Given the description of an element on the screen output the (x, y) to click on. 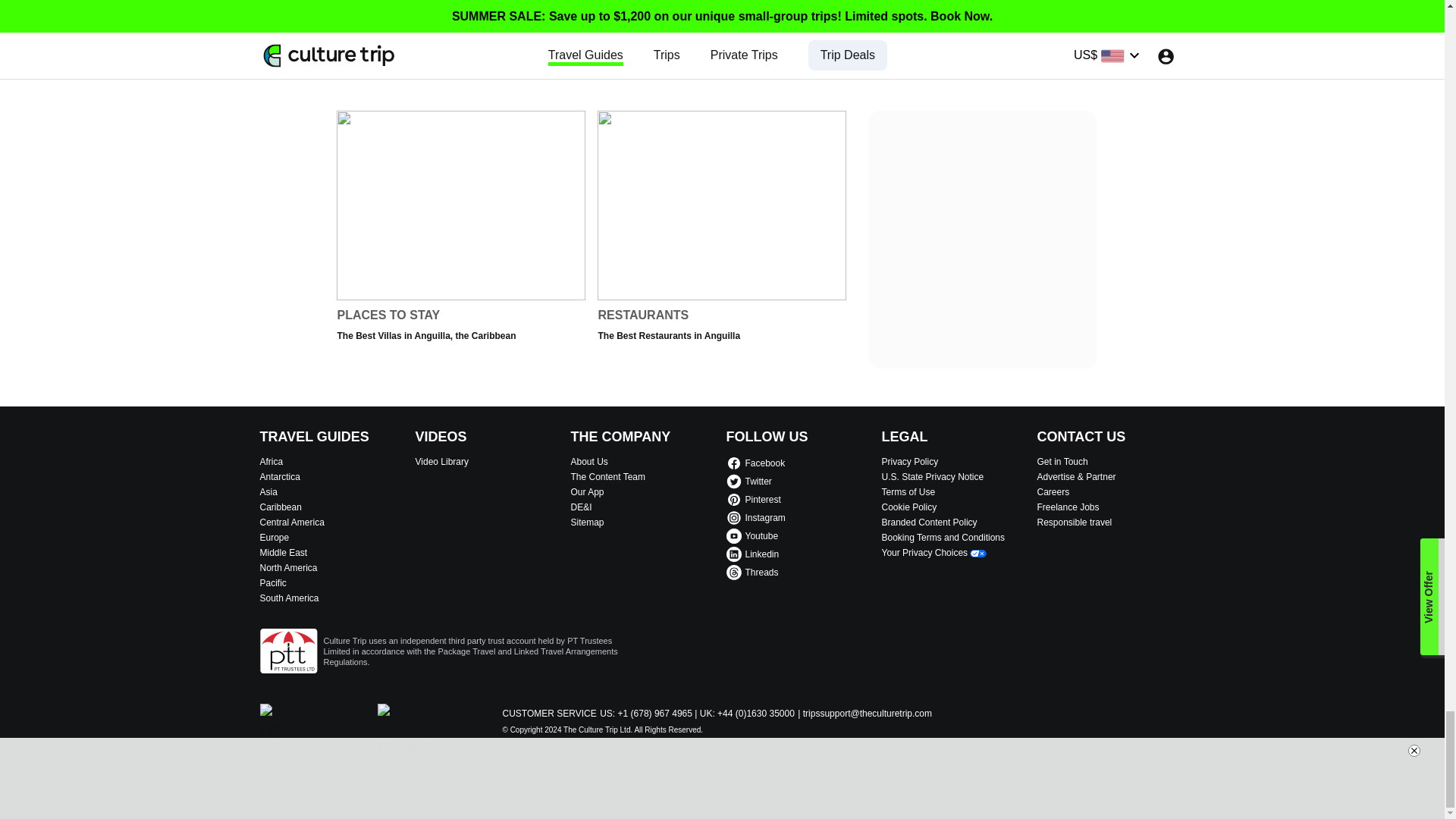
Central America (333, 522)
Europe (333, 537)
Middle East (333, 552)
Caribbean (333, 507)
Asia (333, 491)
Antarctica (333, 476)
Africa (333, 461)
